Given the description of an element on the screen output the (x, y) to click on. 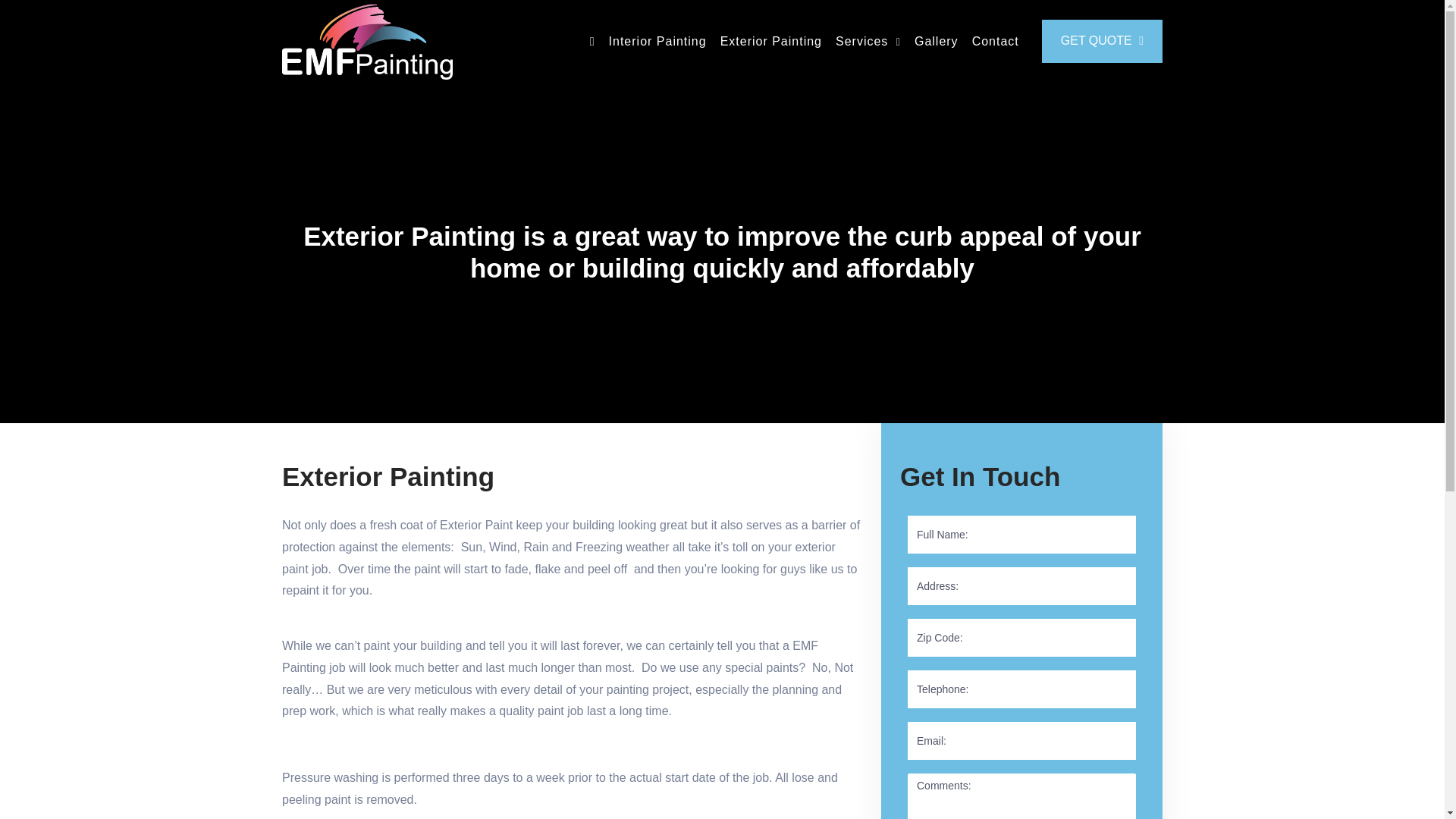
Interior Painting (657, 41)
Exterior Painting (771, 41)
GET QUOTE (1101, 41)
